Given the description of an element on the screen output the (x, y) to click on. 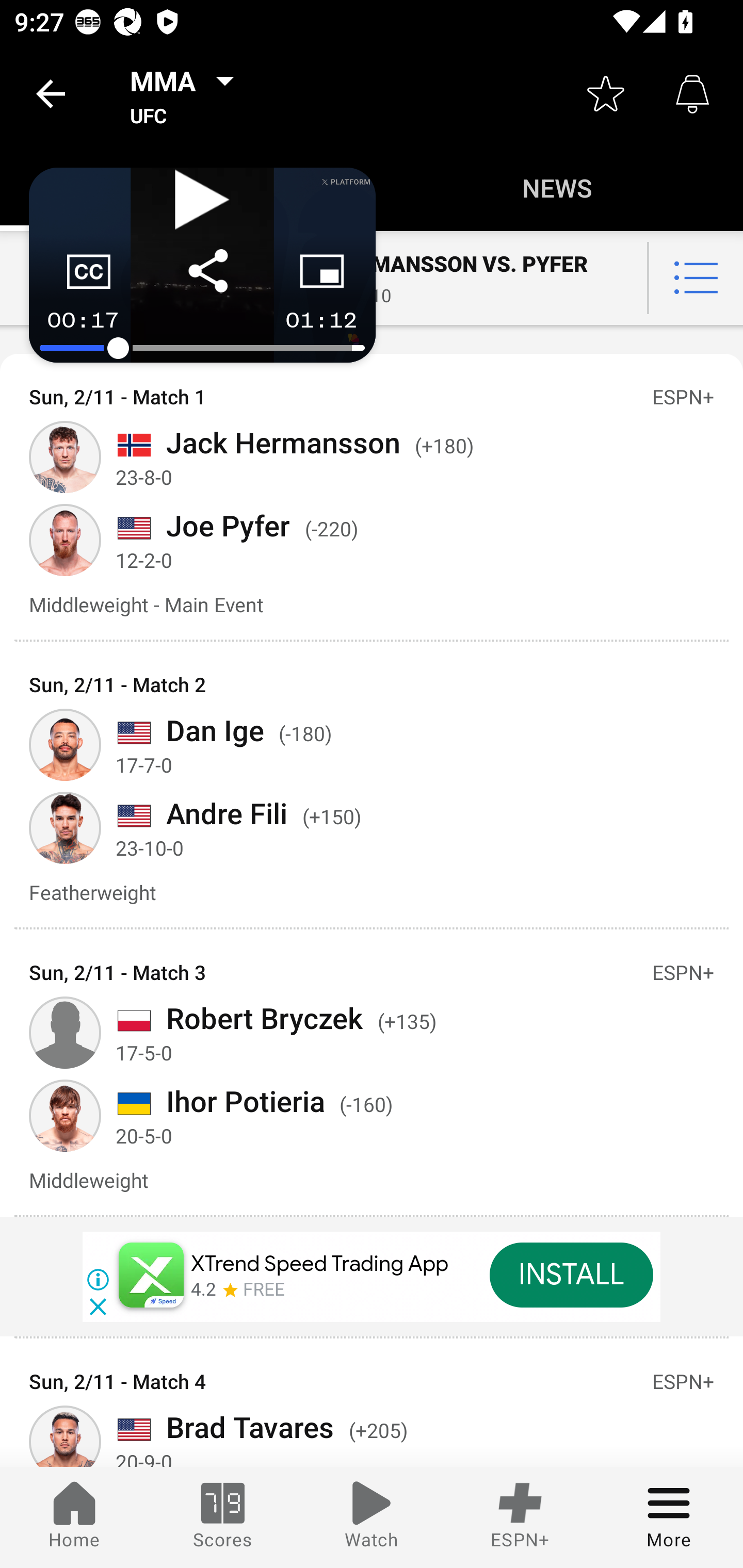
MMA UFC (188, 93)
Favorite toggle (605, 93)
Alerts (692, 93)
News NEWS (557, 187)
INSTALL (570, 1274)
XTrend Speed Trading App (319, 1263)
Home (74, 1517)
Scores (222, 1517)
Watch (371, 1517)
ESPN+ (519, 1517)
